Given the description of an element on the screen output the (x, y) to click on. 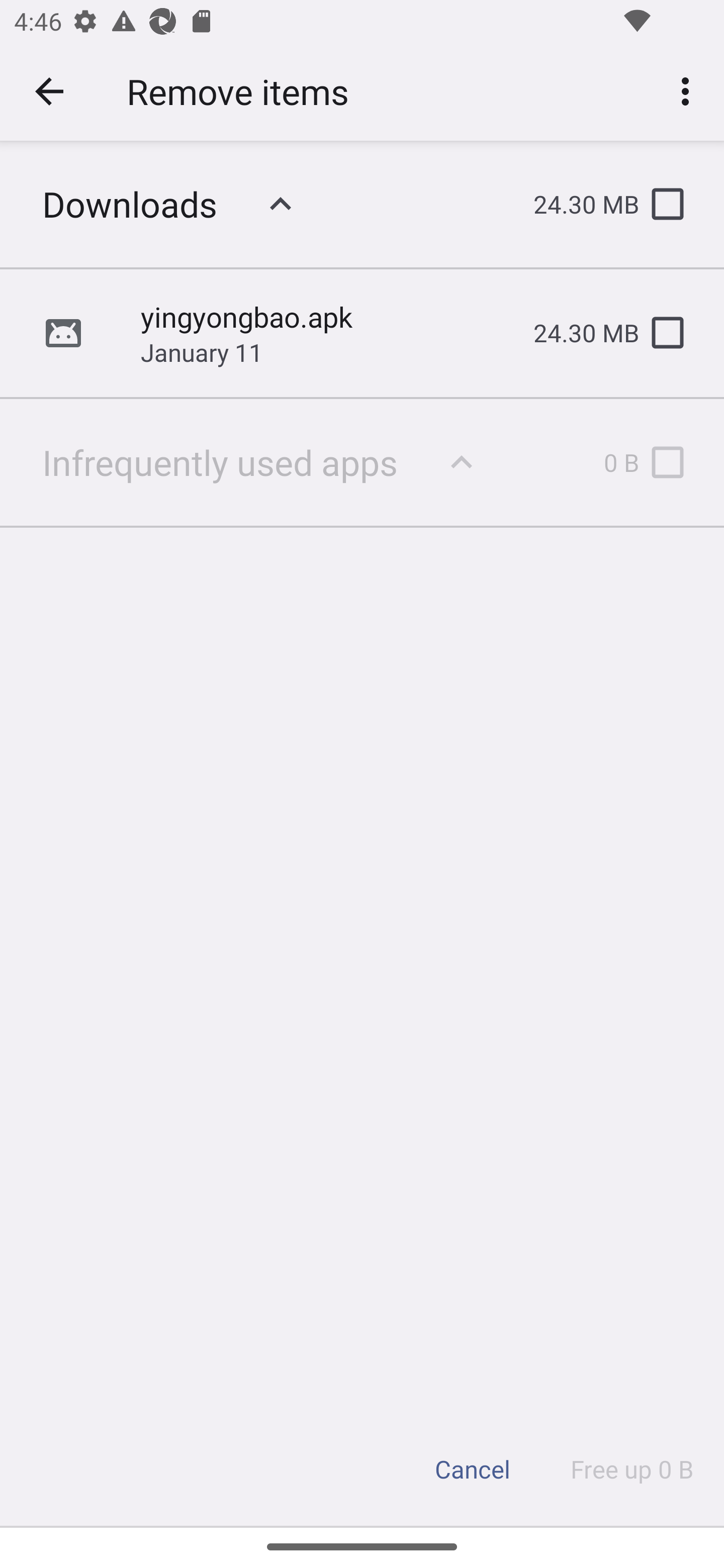
Navigate up (49, 91)
More options (688, 90)
Downloads 24.30 MB (362, 204)
yingyongbao.apk January 11 24.30 MB (362, 332)
Infrequently used apps 0 B (362, 461)
Cancel (472, 1469)
Free up 0 B (632, 1469)
